Given the description of an element on the screen output the (x, y) to click on. 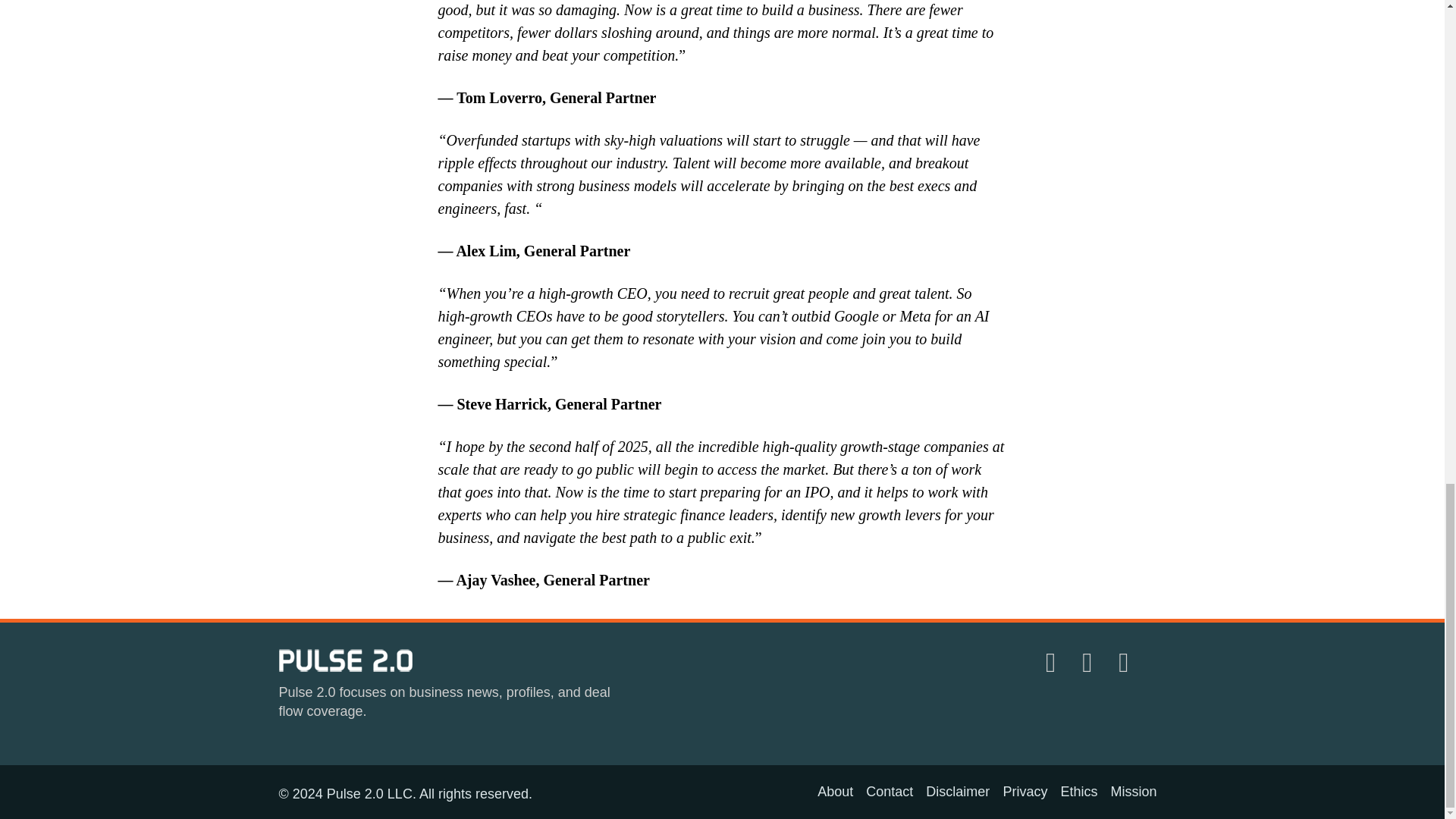
Disclaimer (958, 791)
Pulse 2.0 LinkedIn (1053, 662)
Pulse 2.0 Facebook (1125, 662)
About (834, 791)
Contact (889, 791)
Privacy (1024, 791)
Pulse 2.0 (345, 659)
Mission (1132, 791)
Ethics (1078, 791)
Pulse 2.0 Twitter (1090, 662)
